Given the description of an element on the screen output the (x, y) to click on. 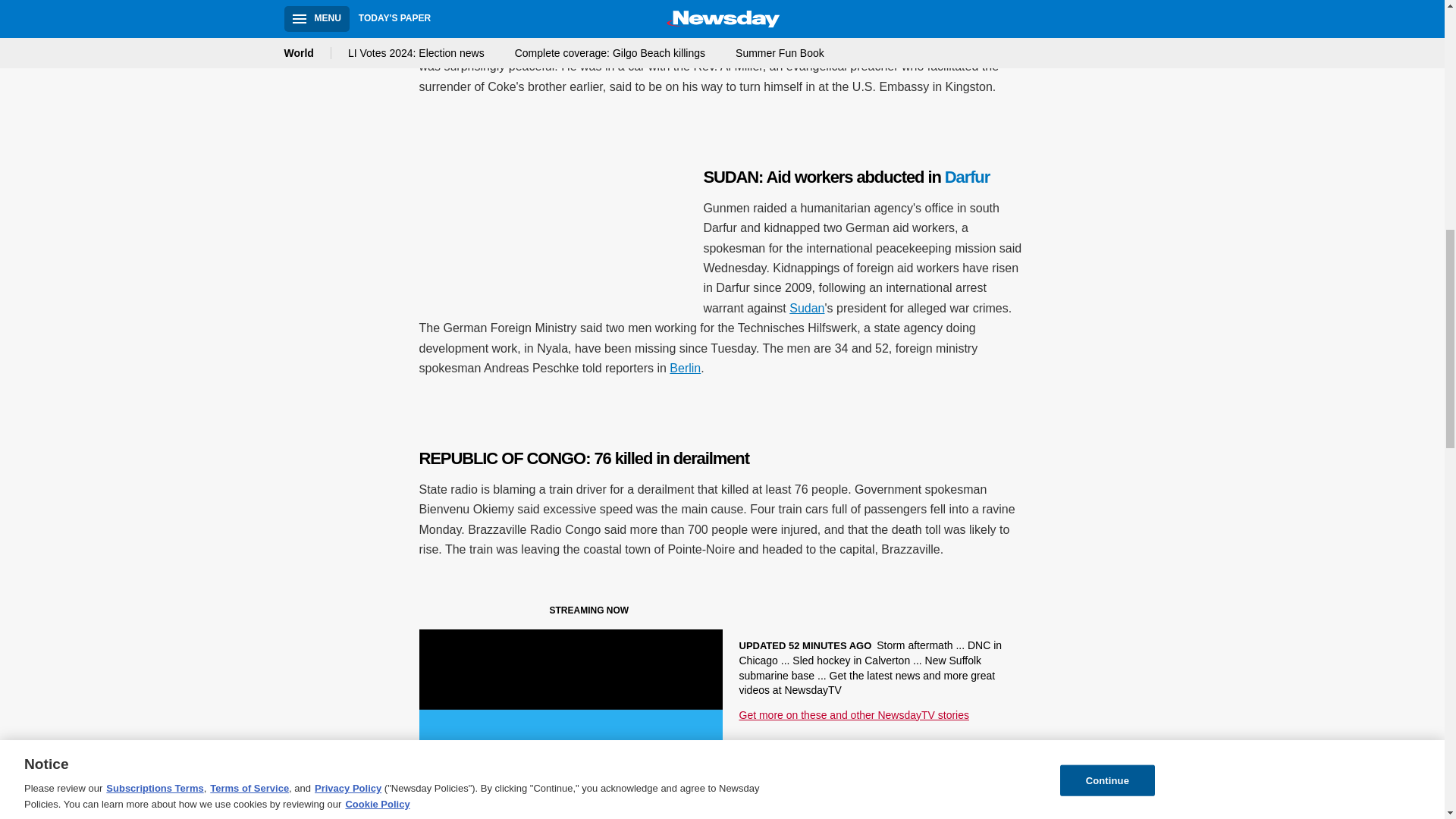
Robin Hood (599, 6)
STREAMING NOW (530, 613)
Darfur (967, 176)
Berlin (684, 367)
Sudan (806, 308)
Get more on these and other NewsdayTV stories (853, 715)
